Given the description of an element on the screen output the (x, y) to click on. 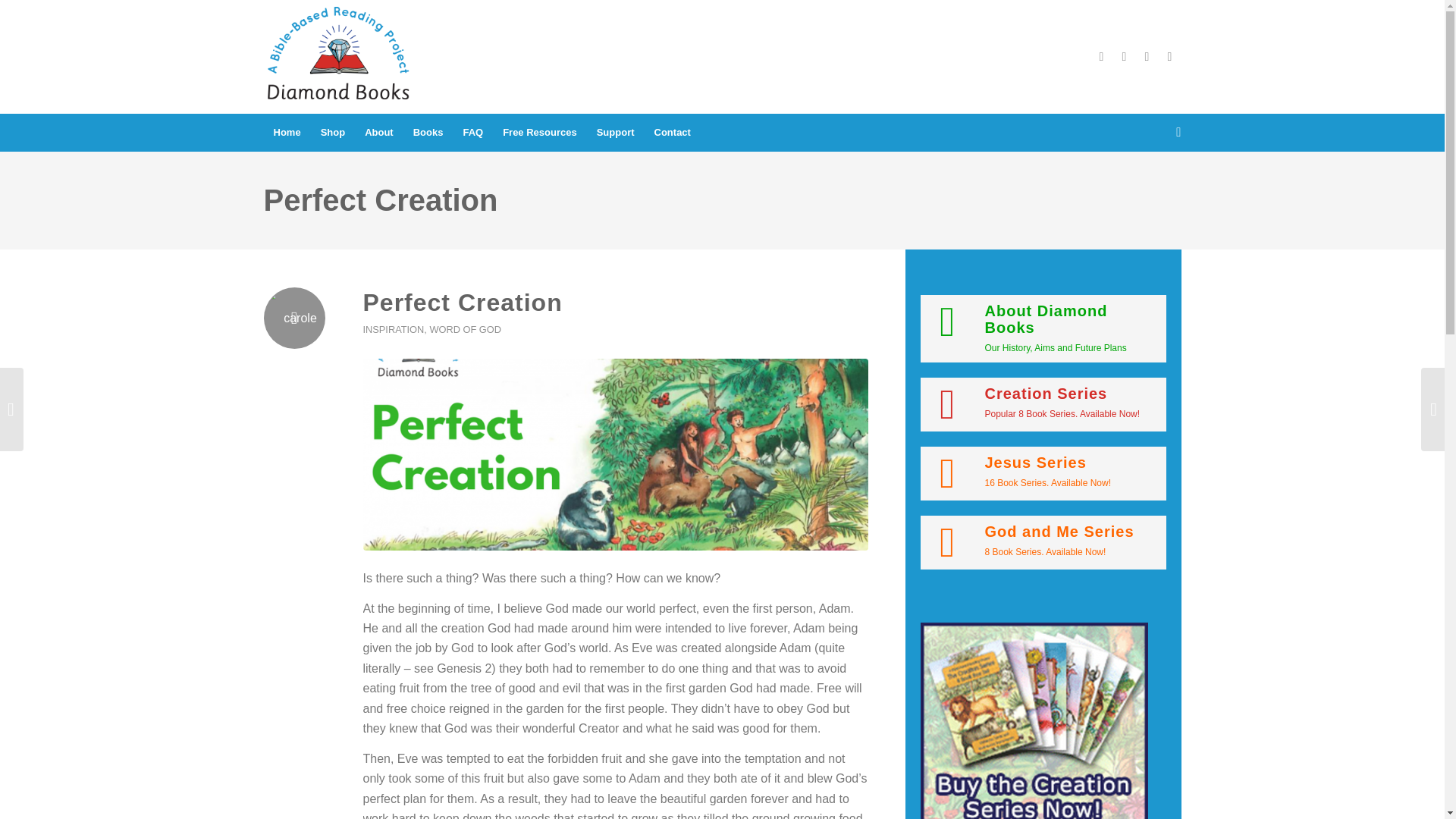
LinkedIn (1169, 56)
Books (427, 132)
Home (287, 132)
Support (615, 132)
Contact (672, 132)
Facebook (1101, 56)
perfect-creation-1 (614, 454)
Shop (333, 132)
Instagram (1146, 56)
Free Resources (539, 132)
